Given the description of an element on the screen output the (x, y) to click on. 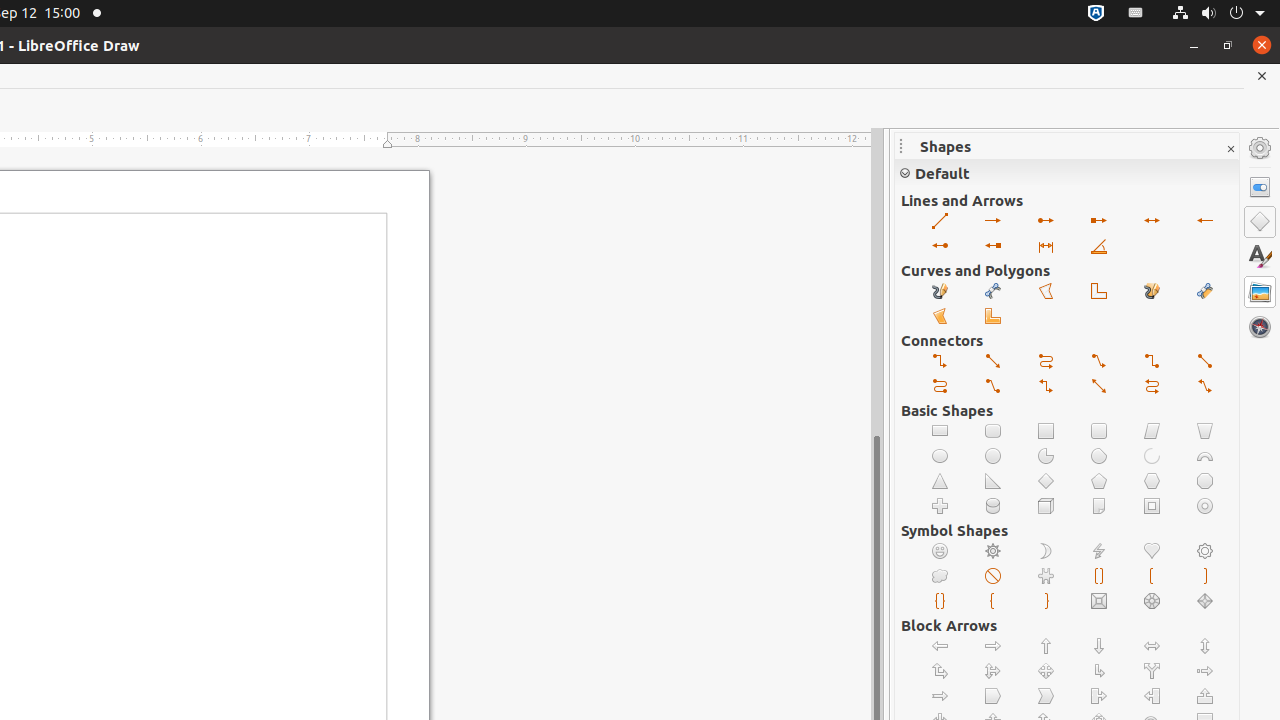
Straight Connector with Arrows Element type: list-item (1099, 386)
Line Connector Element type: list-item (993, 386)
Folded Corner Element type: list-item (1099, 506)
Split Arrow Element type: list-item (1152, 671)
Line Connector with Arrows Element type: list-item (1205, 386)
